Given the description of an element on the screen output the (x, y) to click on. 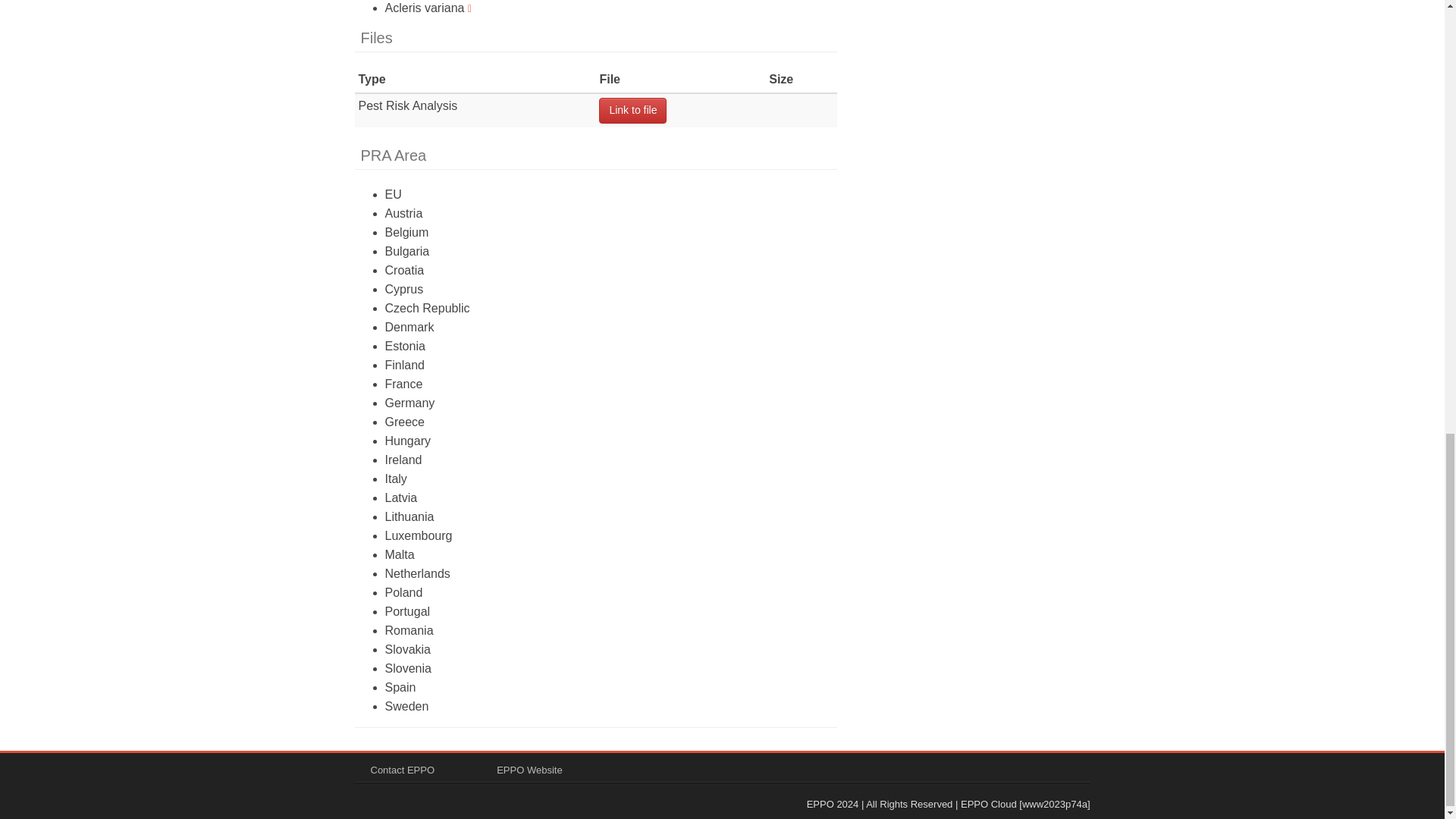
link (632, 110)
EPPO Website (529, 769)
Contact EPPO (401, 769)
Link to file (632, 110)
